Given the description of an element on the screen output the (x, y) to click on. 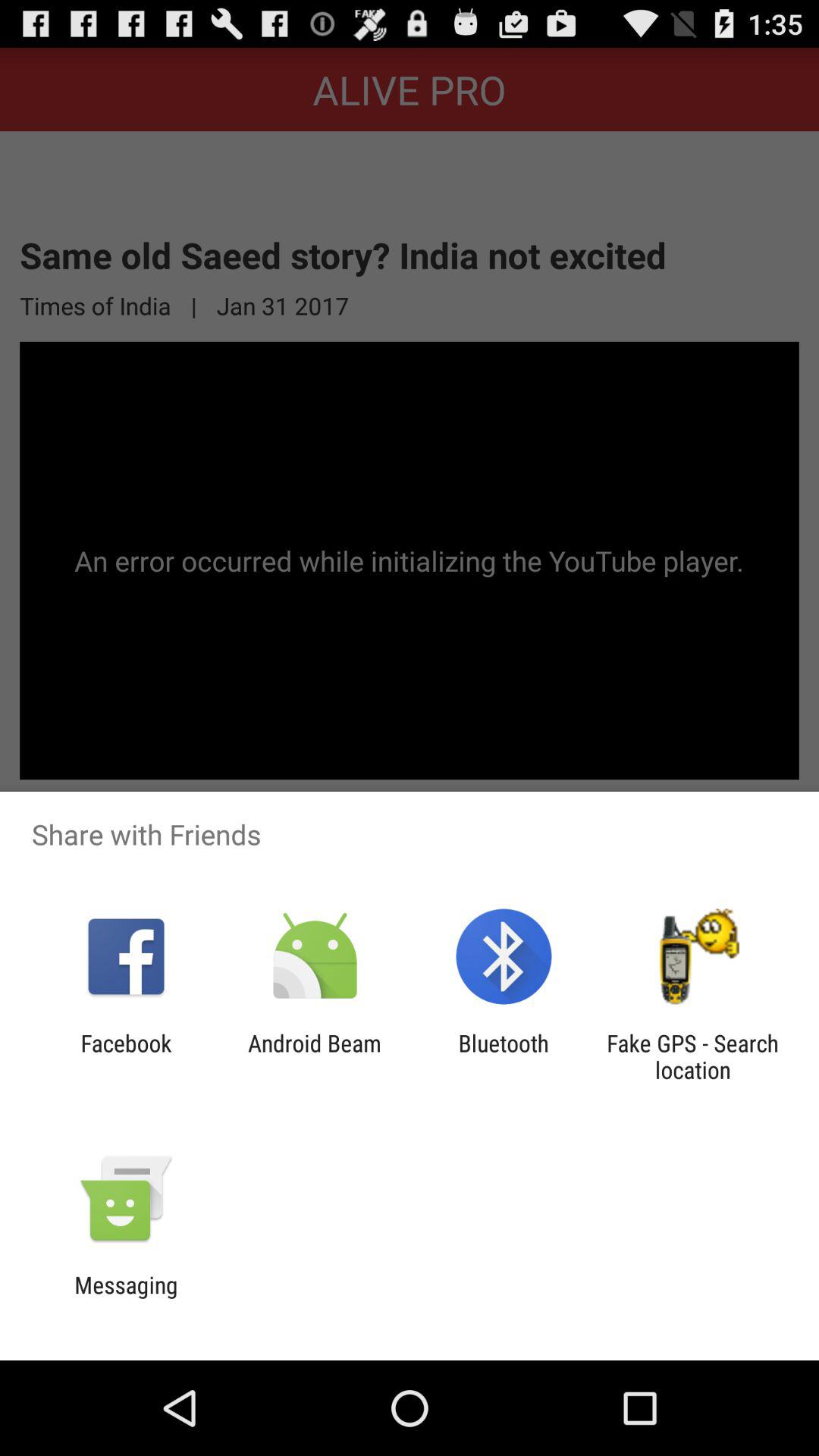
turn on item next to the android beam (125, 1056)
